Given the description of an element on the screen output the (x, y) to click on. 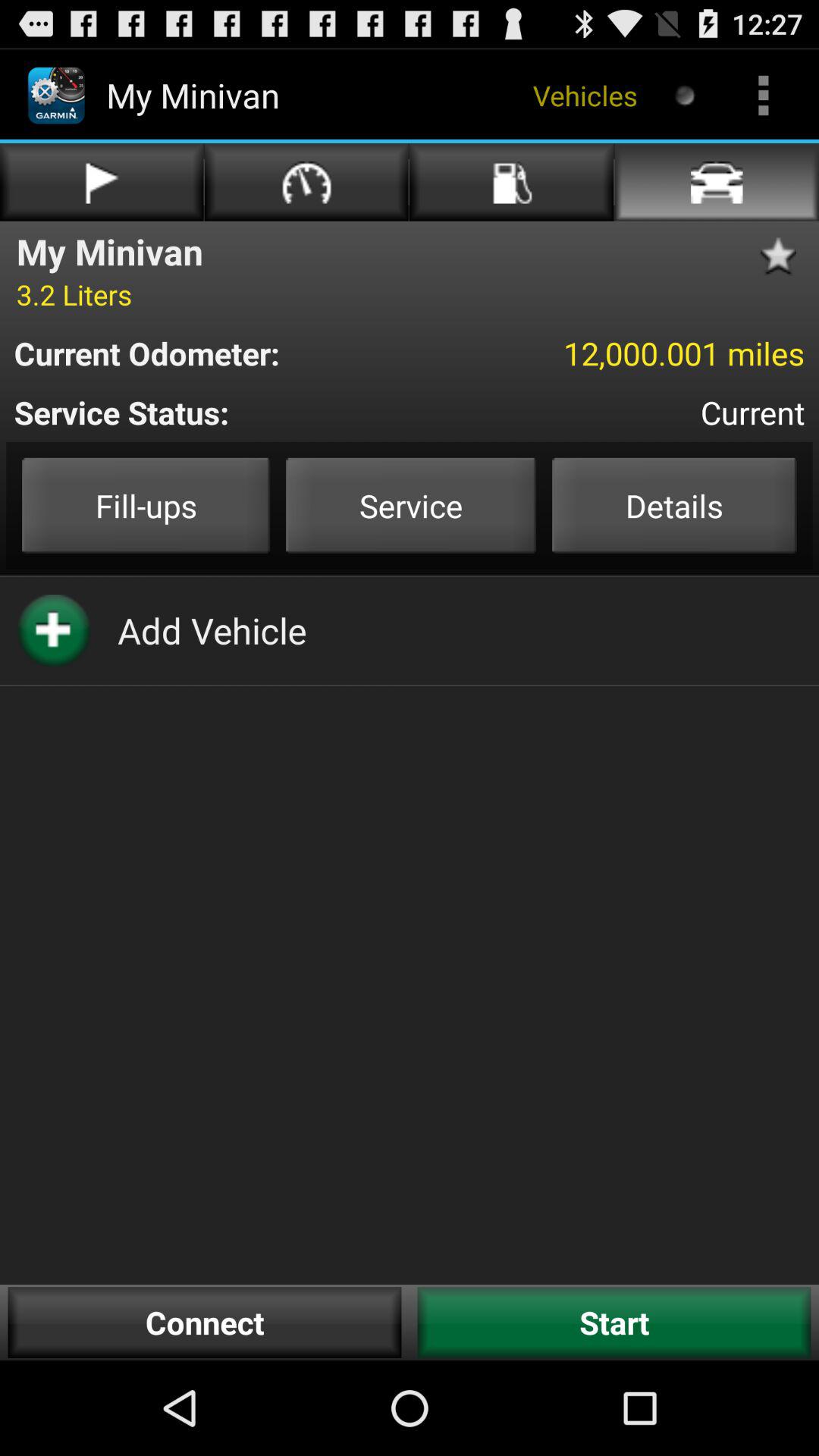
a star symbol when pressed bookmarks the page (783, 256)
